Given the description of an element on the screen output the (x, y) to click on. 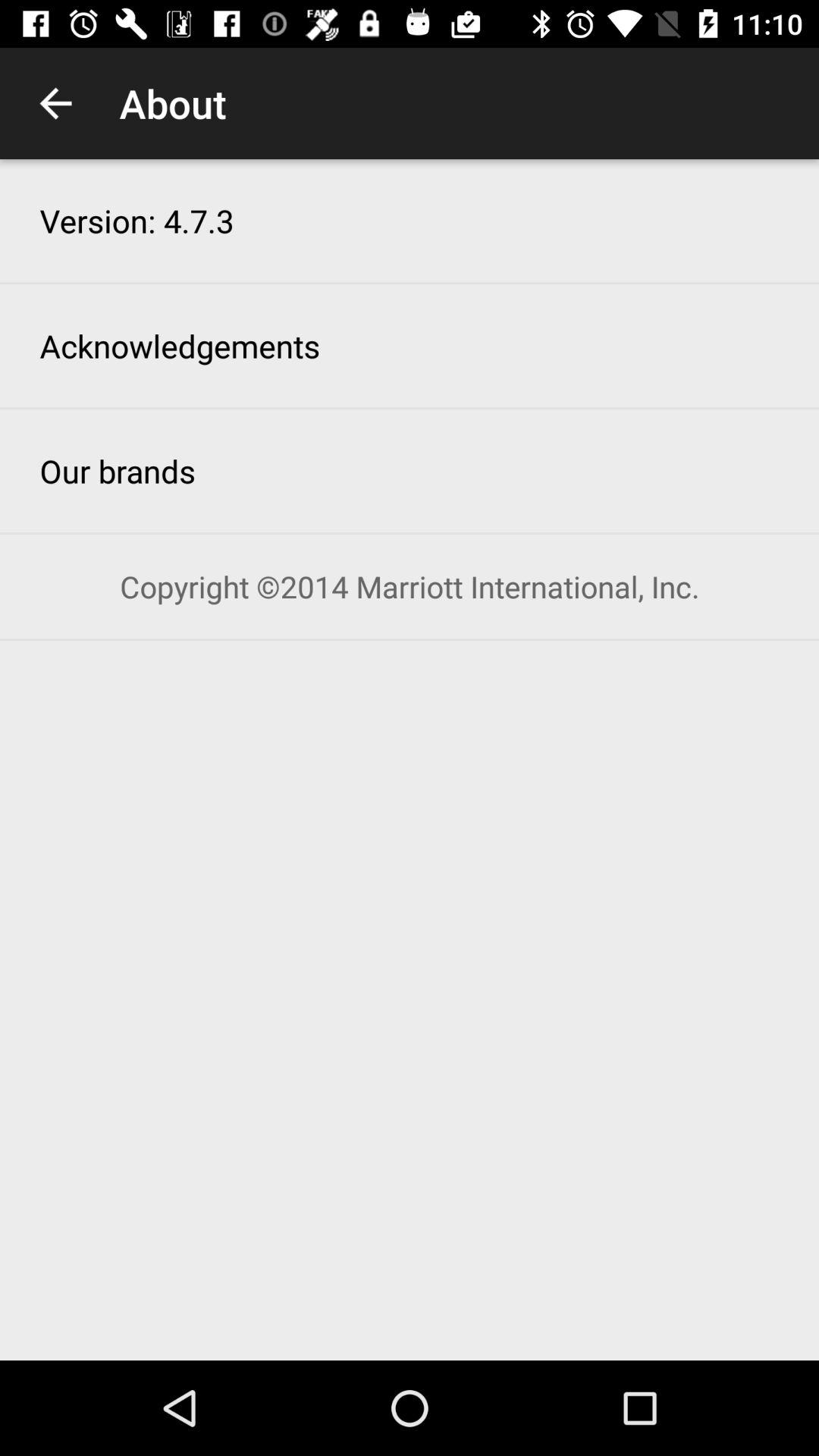
tap version 4 7 (136, 220)
